Given the description of an element on the screen output the (x, y) to click on. 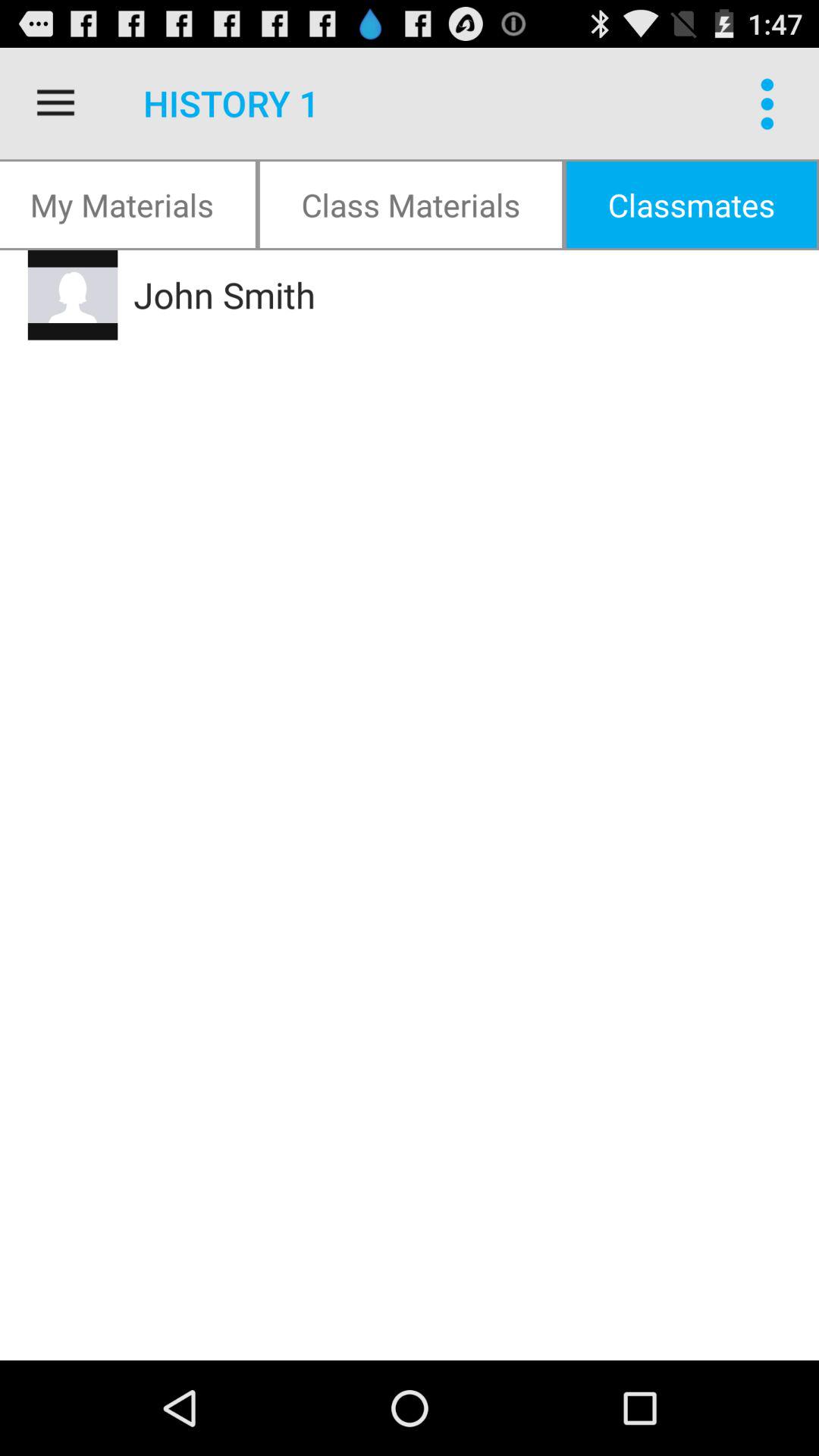
choose icon next to the john smith icon (72, 295)
